Given the description of an element on the screen output the (x, y) to click on. 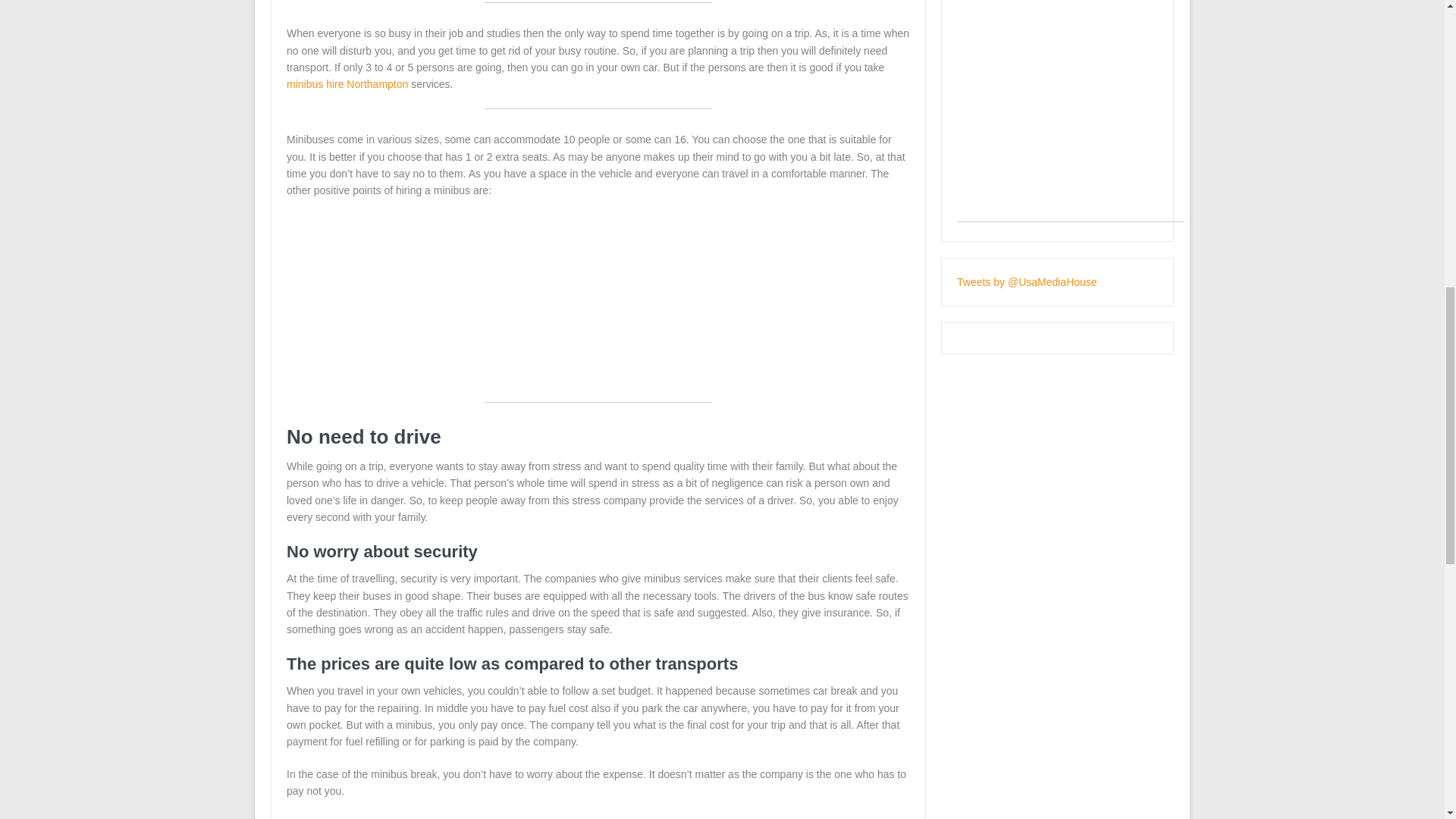
Advertisement (1070, 110)
